Given the description of an element on the screen output the (x, y) to click on. 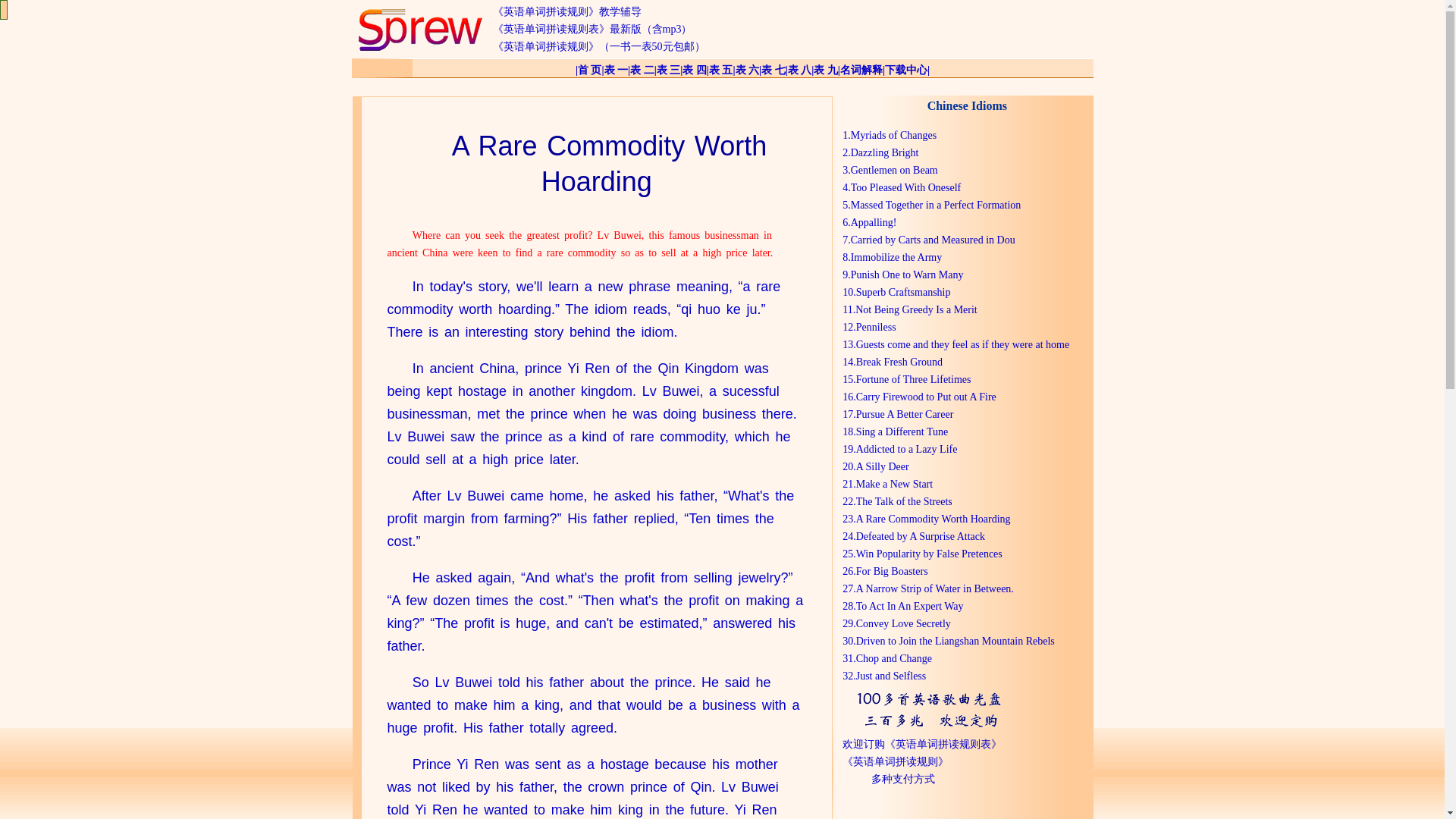
Myriads of Changes (893, 134)
Dazzling Bright (884, 152)
